Given the description of an element on the screen output the (x, y) to click on. 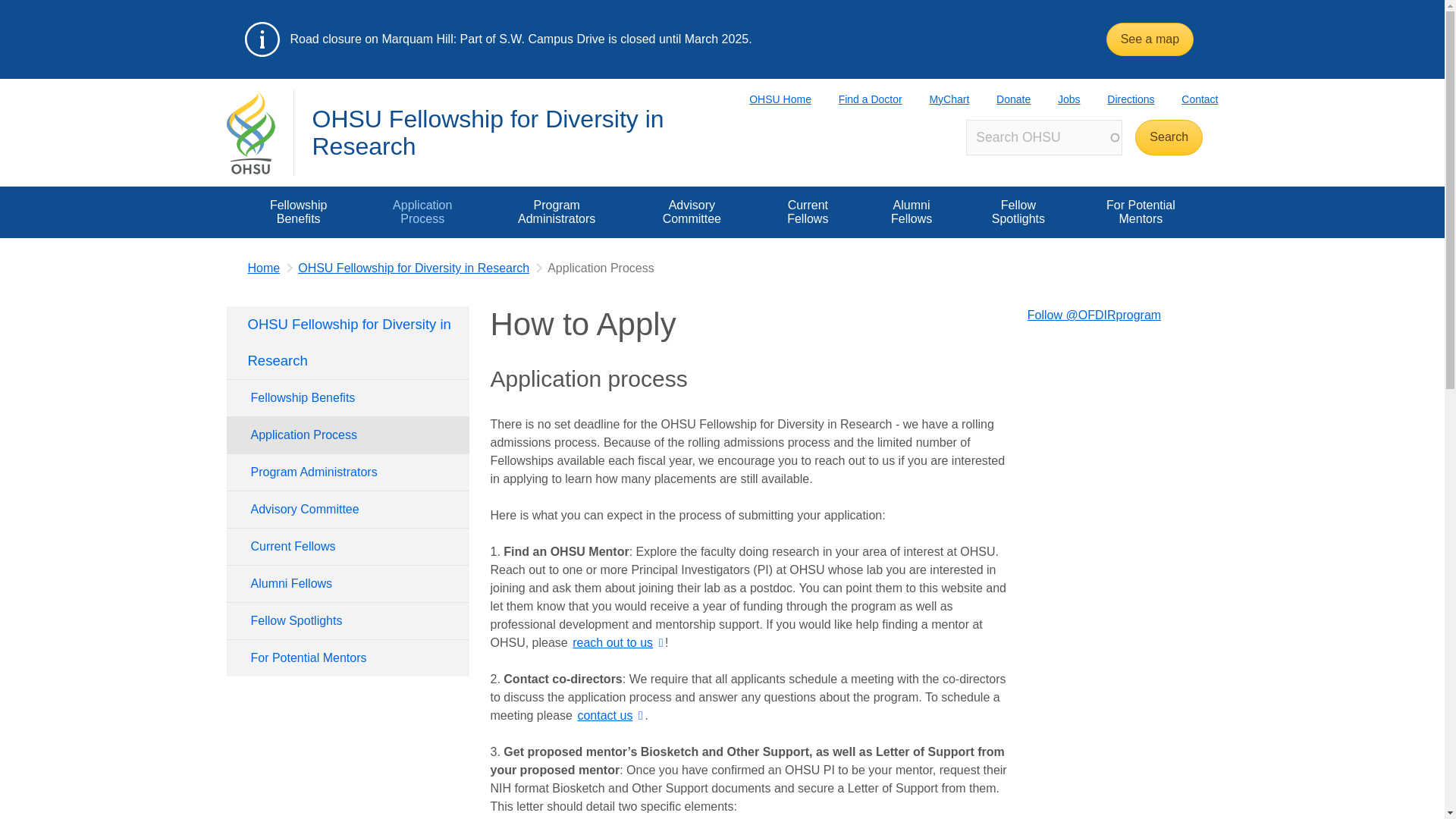
Alumni Fellows (911, 212)
Fellowship Benefits (297, 212)
MyChart (935, 99)
Features on several of our current and alumni Fellows (1018, 212)
on (240, 191)
Application Process (346, 434)
Meet the OFDIR Advisory Committee (691, 212)
OHSU Fellowship for Diversity in Research (488, 132)
Contact OHSU (1186, 99)
Search (1168, 137)
Fellow Spotlights (346, 620)
Current Fellows (346, 546)
For Potential Mentors (346, 657)
Jobs (1055, 99)
Current Fellows (807, 212)
